Given the description of an element on the screen output the (x, y) to click on. 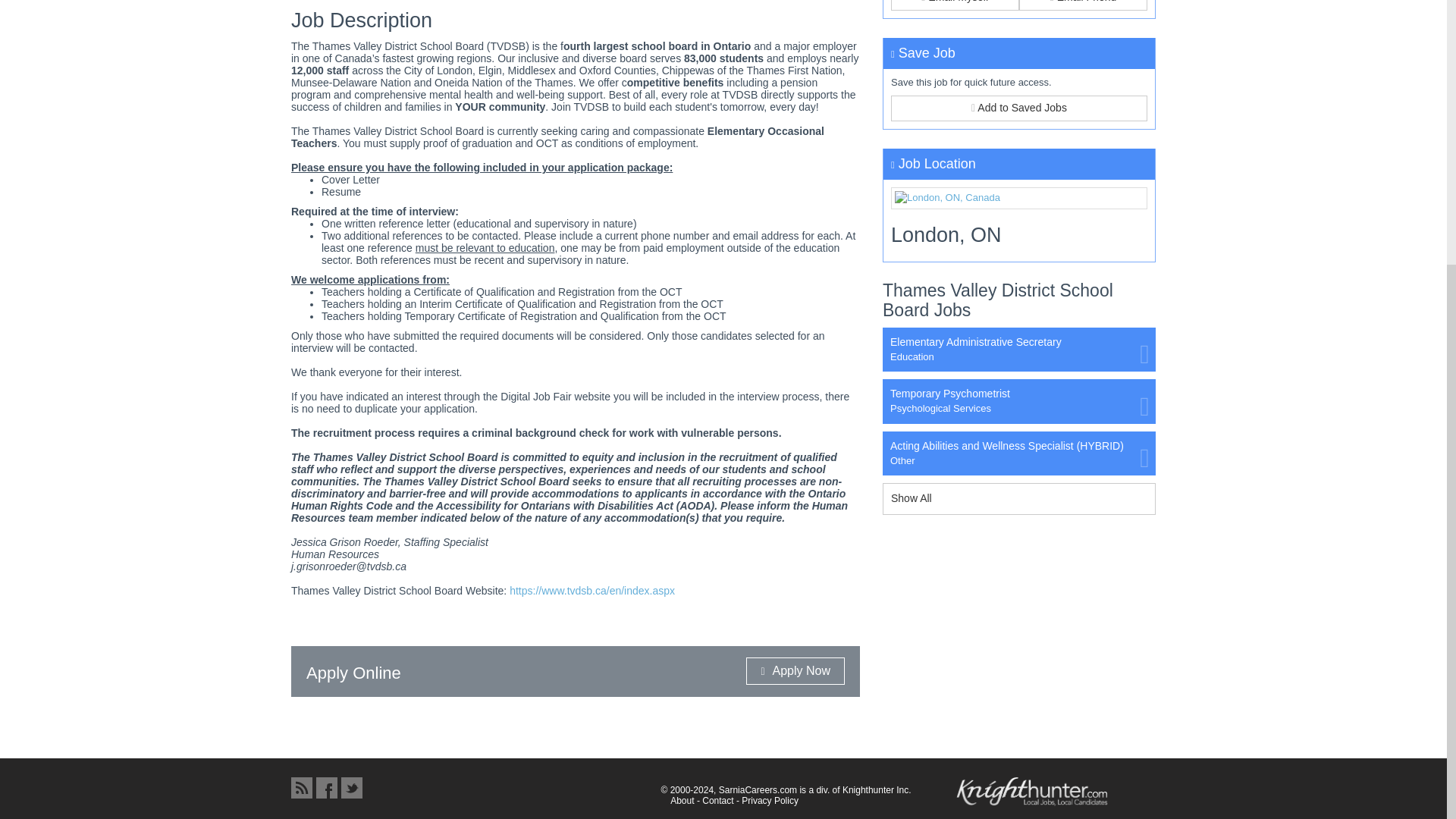
London, ON, Canada (1019, 198)
Email Myself (955, 5)
Apply Now (794, 670)
KH-CMS Engine v6.0.8 (1032, 792)
